Given the description of an element on the screen output the (x, y) to click on. 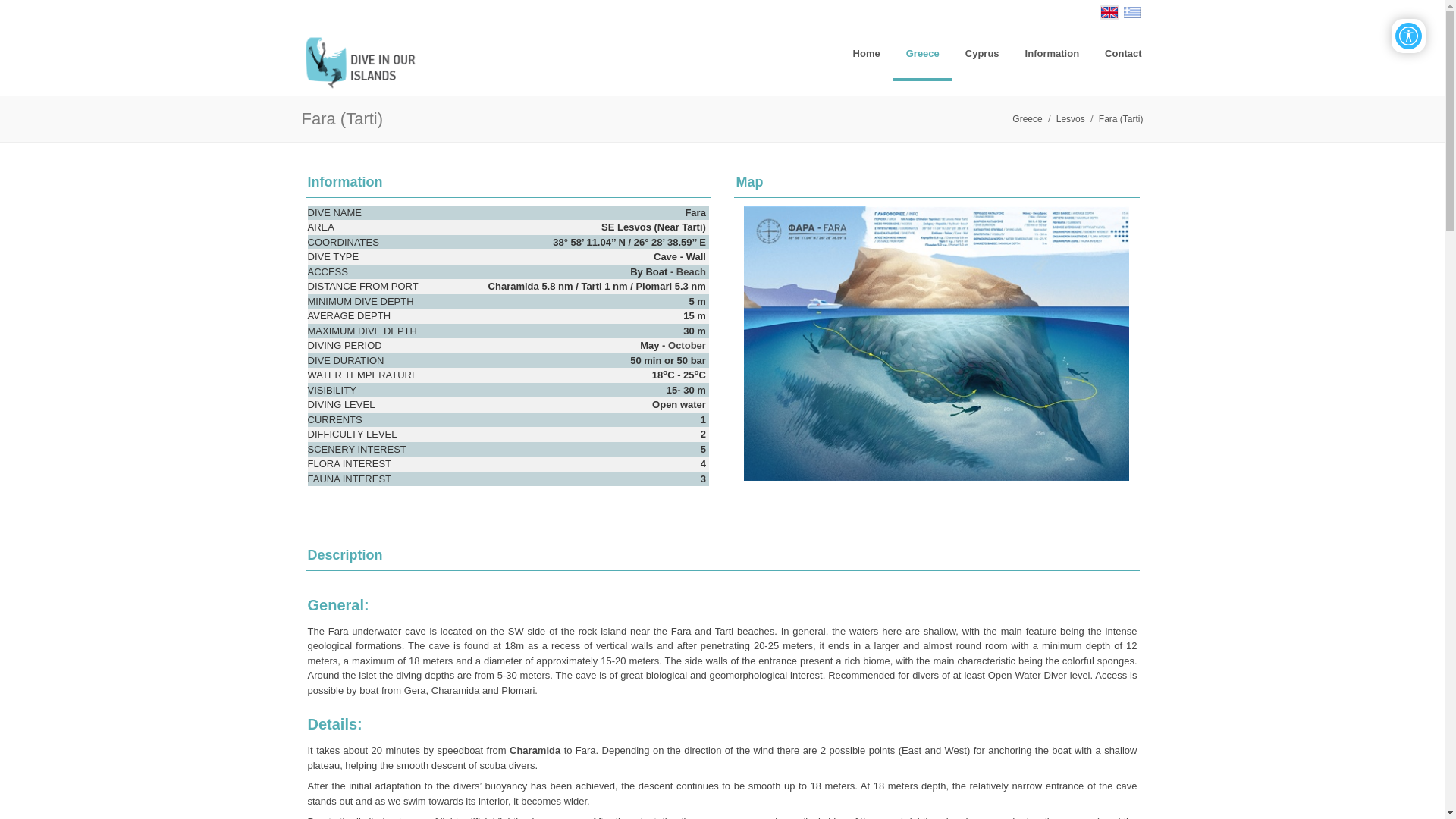
Dive in our Islands (366, 60)
Cyprus (981, 53)
Home (866, 53)
Greece (922, 53)
